Given the description of an element on the screen output the (x, y) to click on. 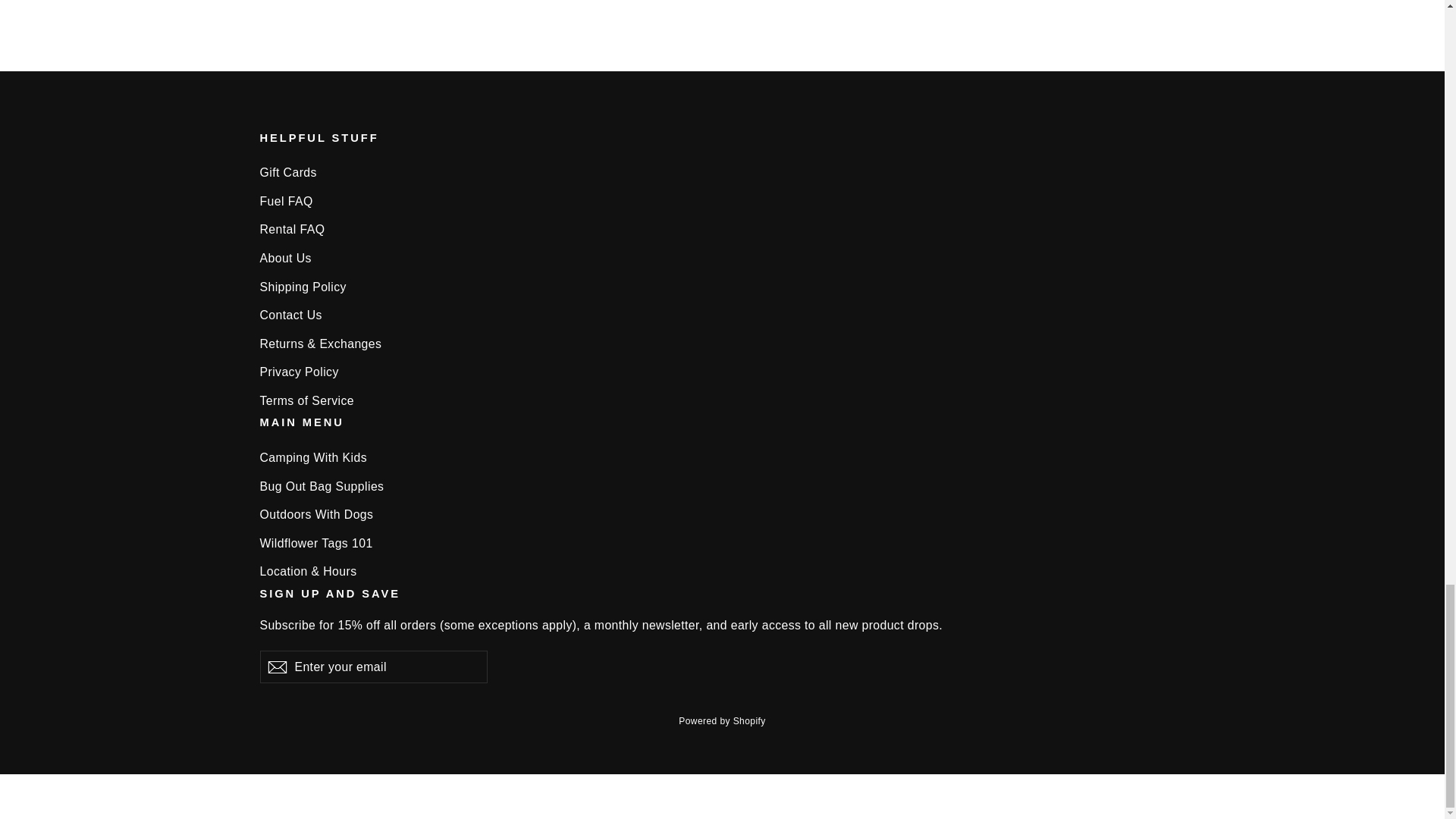
icon-email (276, 667)
